Given the description of an element on the screen output the (x, y) to click on. 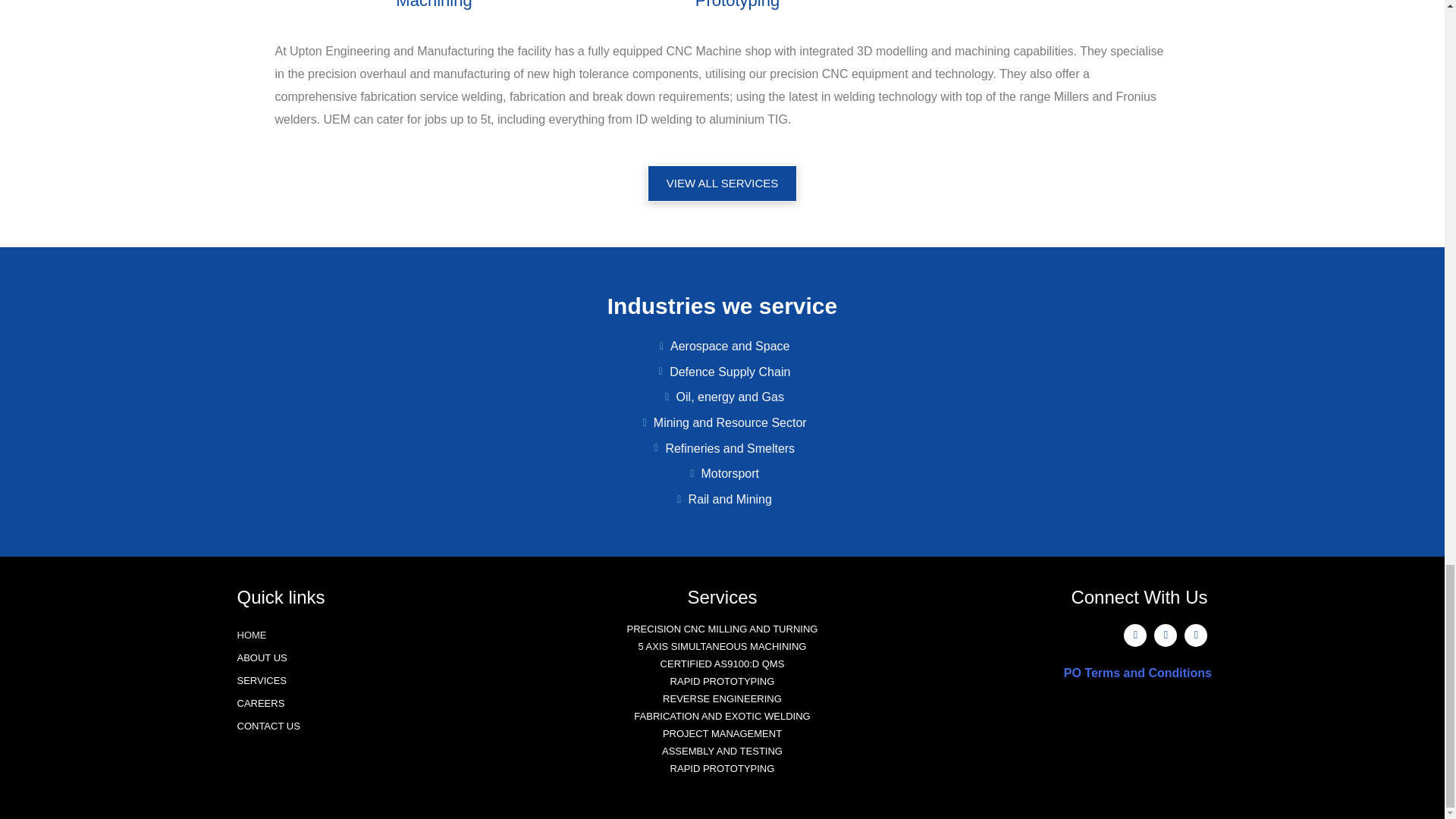
CONTACT US (386, 725)
HOME (386, 635)
VIEW ALL SERVICES (722, 183)
Prototyping (736, 4)
PO Terms and Conditions           (1155, 672)
SERVICES (386, 680)
ABOUT US (386, 658)
Fabrication (1039, 1)
CAREERS (386, 703)
Machining (433, 4)
